Given the description of an element on the screen output the (x, y) to click on. 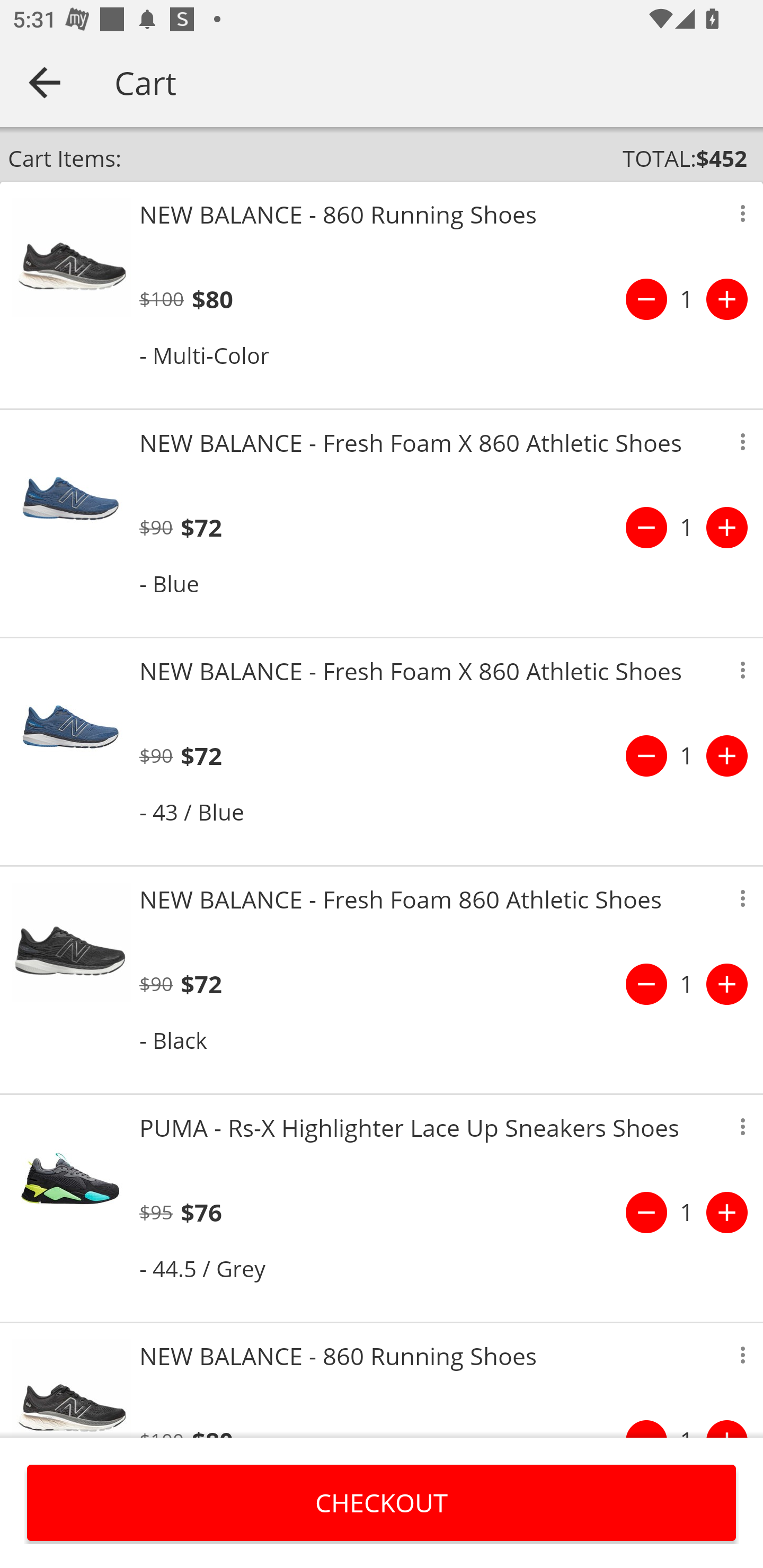
Navigate up (44, 82)
1 (686, 299)
1 (686, 527)
1 (686, 755)
1 (686, 984)
1 (686, 1211)
NEW BALANCE - 860 Running Shoes $100 $80 1 (381, 1380)
CHECKOUT (381, 1502)
